Given the description of an element on the screen output the (x, y) to click on. 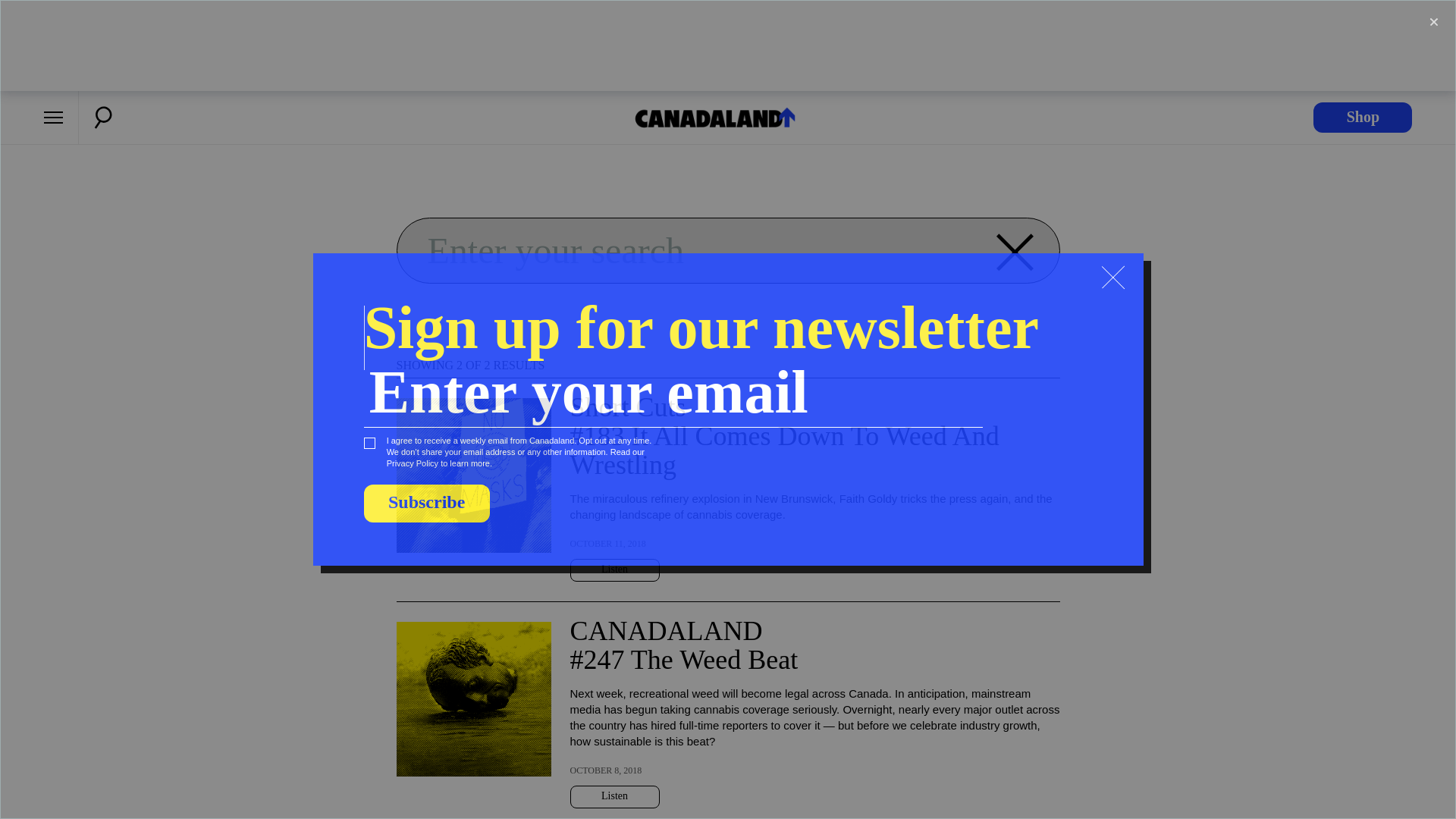
Toggle (1433, 21)
